Given the description of an element on the screen output the (x, y) to click on. 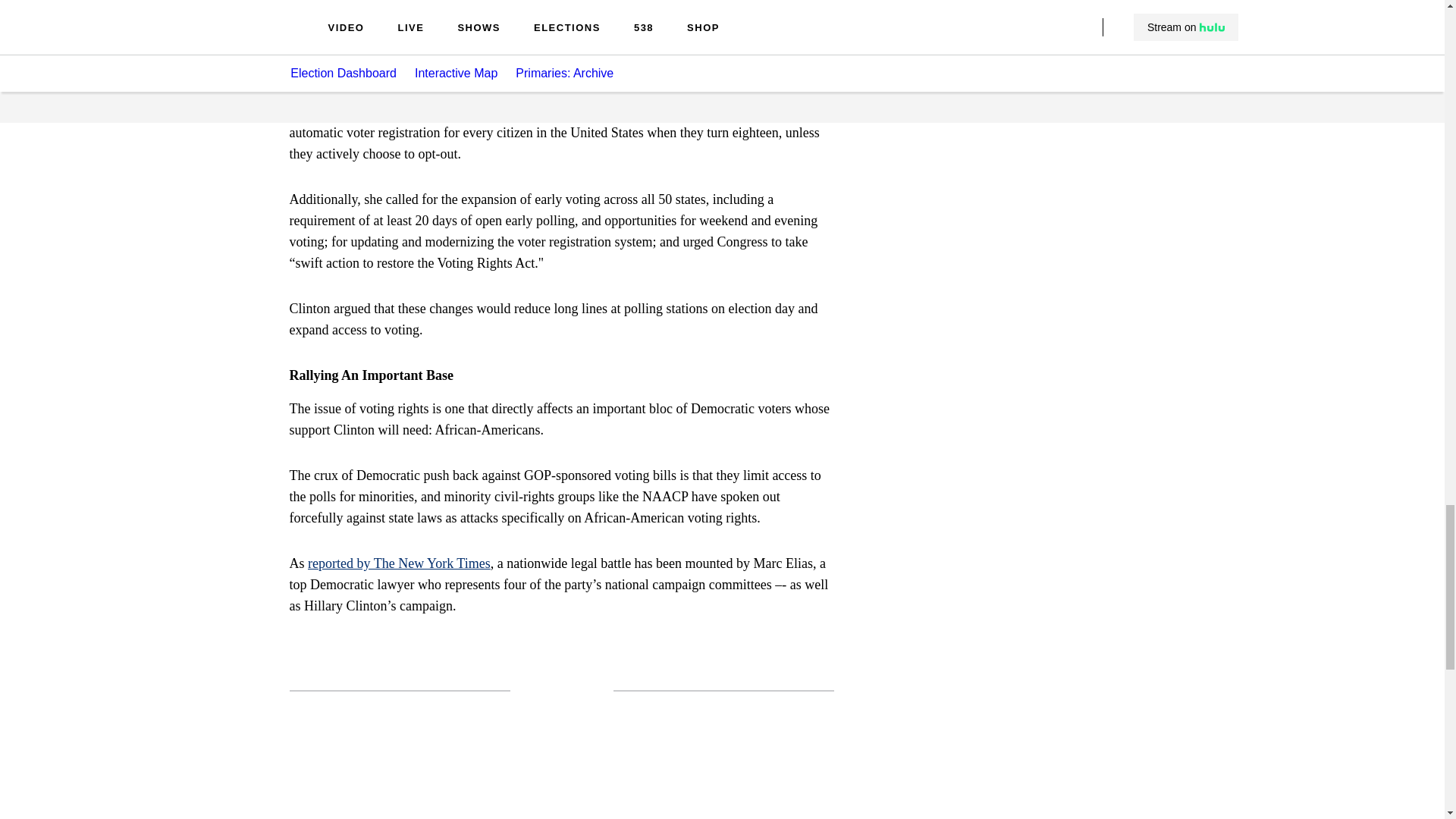
reported by The New York Times (398, 563)
